Given the description of an element on the screen output the (x, y) to click on. 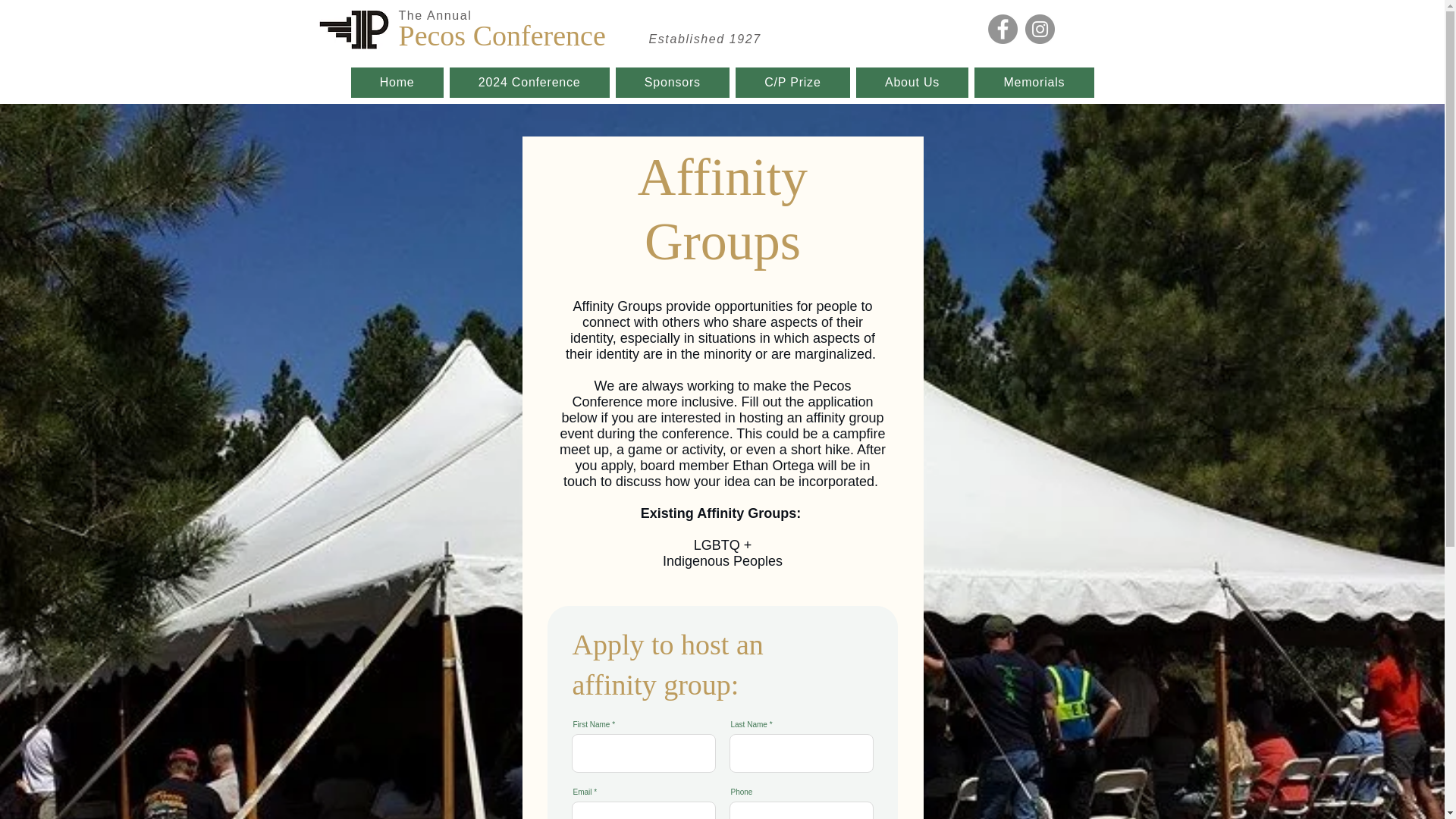
About Us (912, 82)
Memorials (1033, 82)
2024 Conference (529, 82)
Sponsors (672, 82)
Home (396, 82)
